Given the description of an element on the screen output the (x, y) to click on. 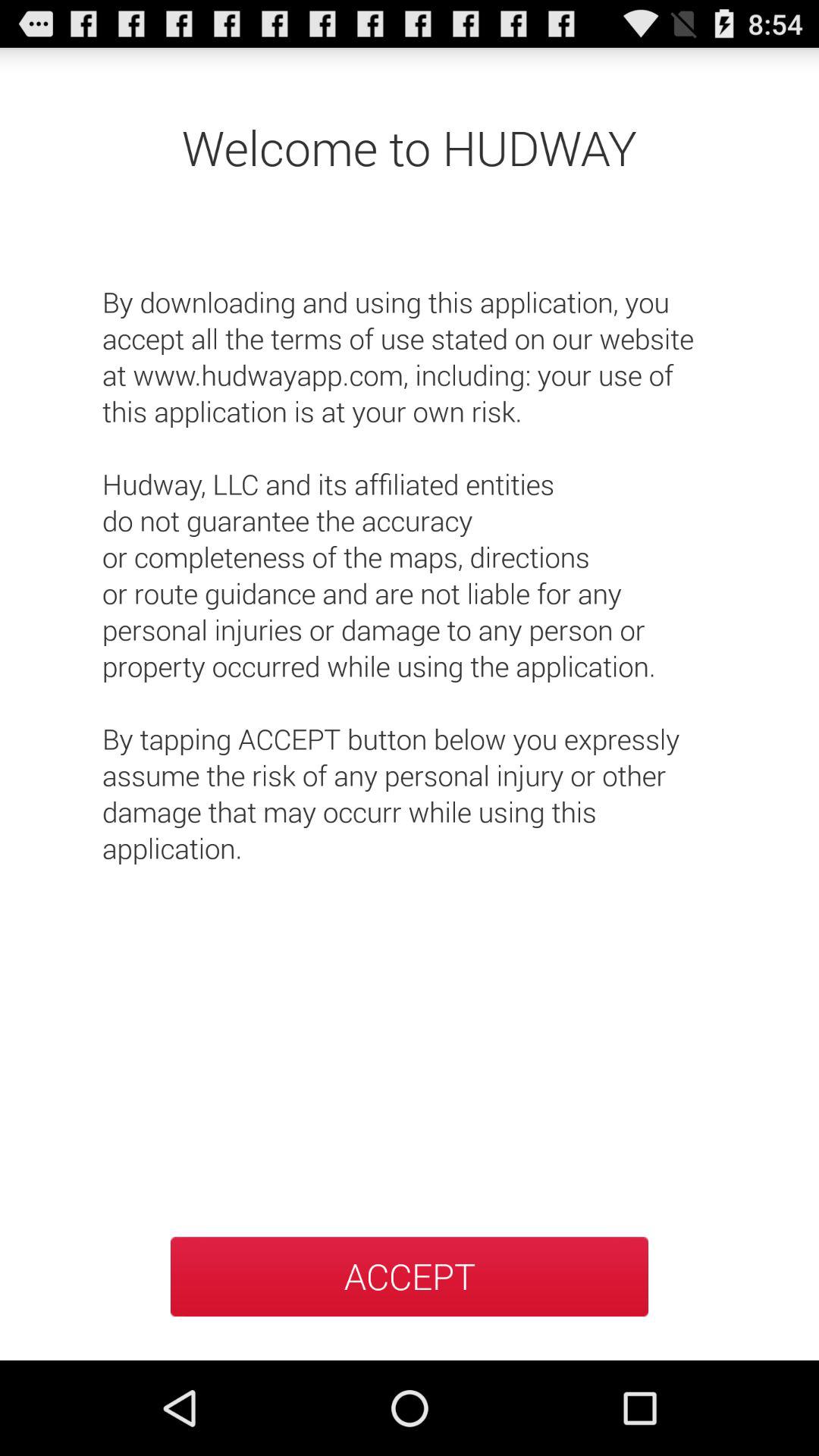
jump to the by downloading and icon (409, 556)
